Given the description of an element on the screen output the (x, y) to click on. 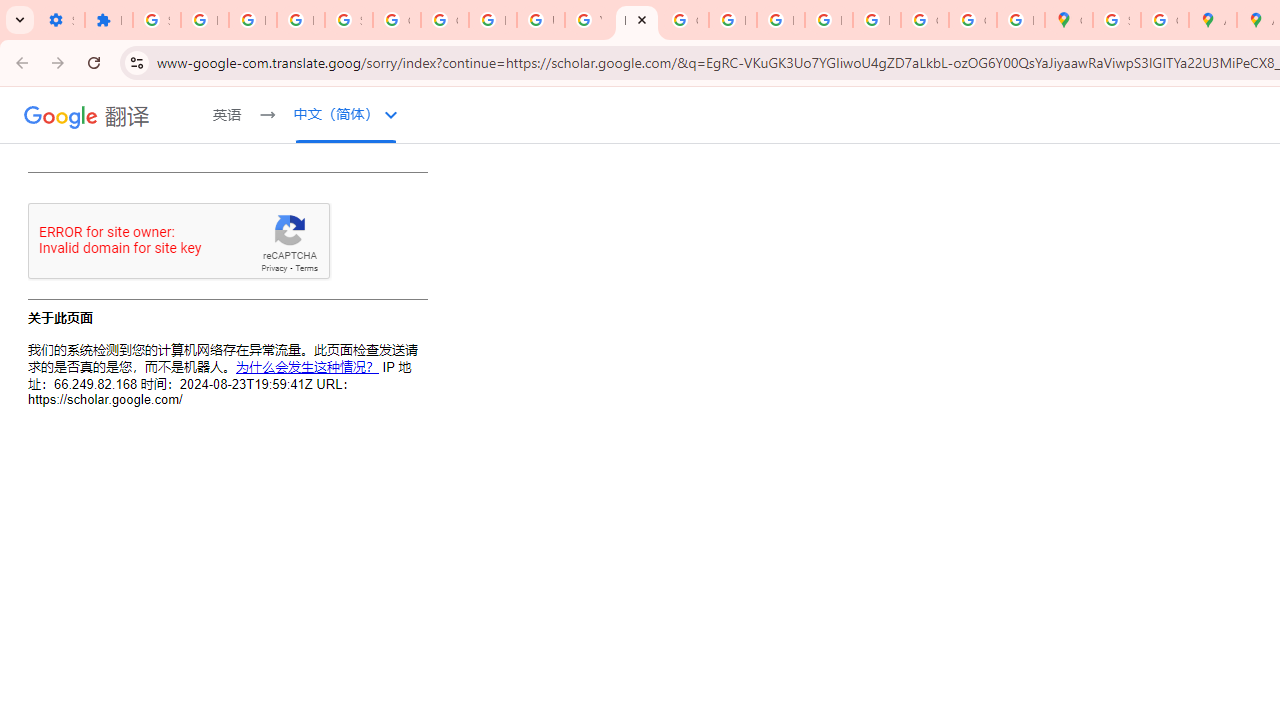
Create your Google Account (1164, 20)
Google Account Help (396, 20)
Privacy Help Center - Policies Help (732, 20)
Delete photos & videos - Computer - Google Photos Help (204, 20)
